Given the description of an element on the screen output the (x, y) to click on. 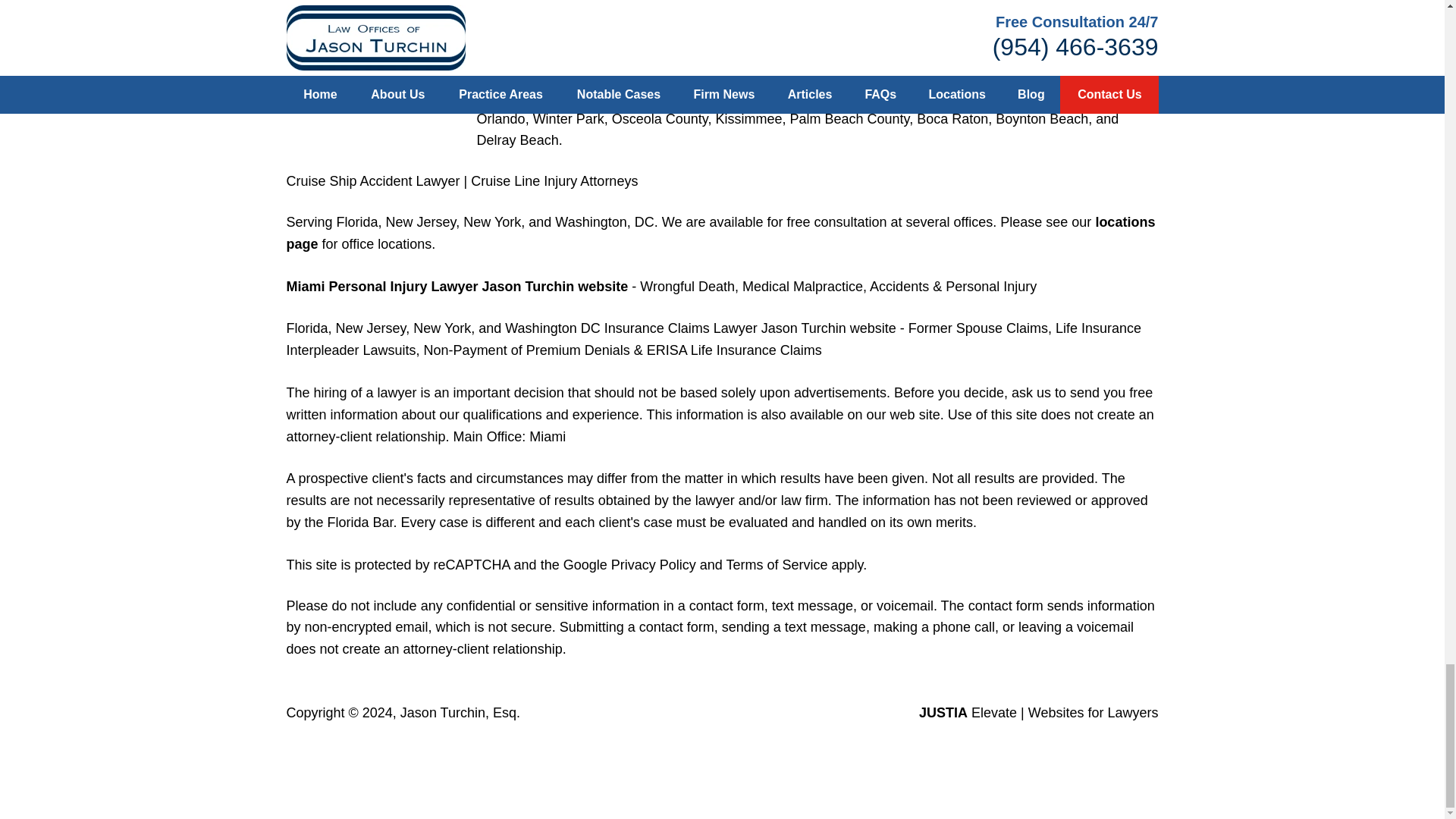
Linkedin (333, 76)
Justia (325, 90)
Twitter (327, 62)
Facebook (337, 49)
